Given the description of an element on the screen output the (x, y) to click on. 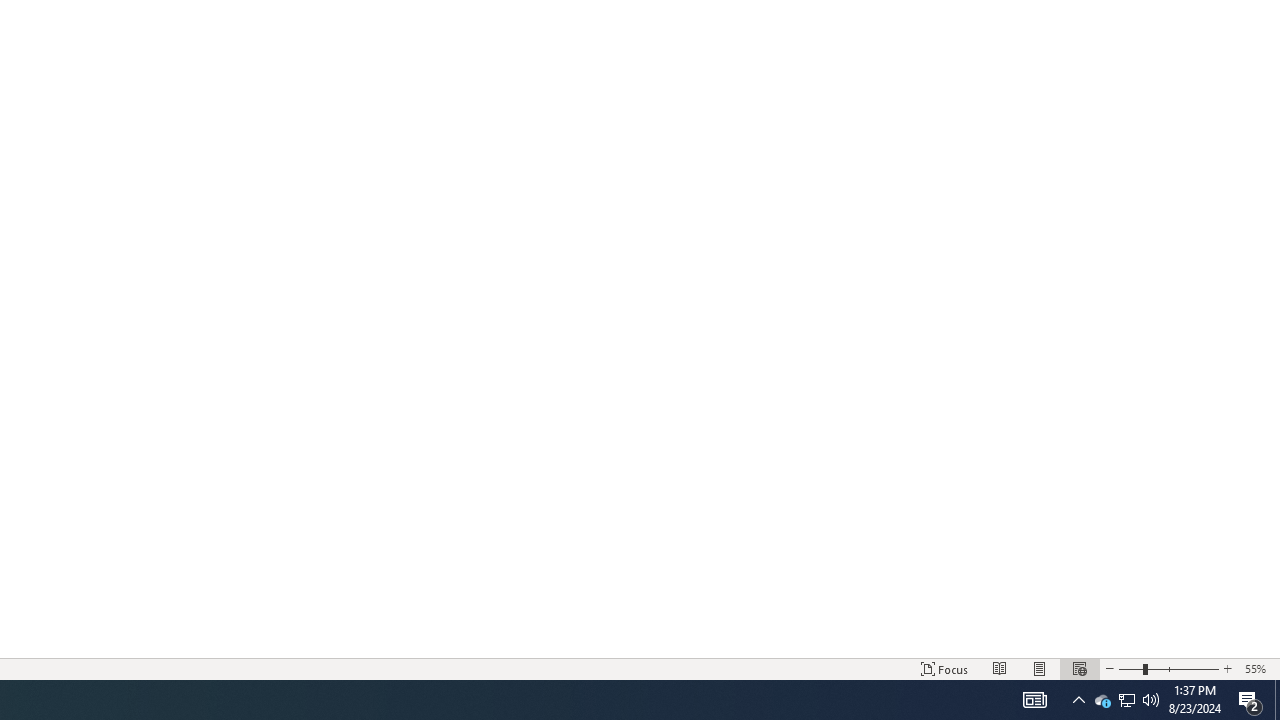
Read Mode (1000, 668)
Zoom In (1227, 668)
Zoom (1168, 668)
Print Layout (1039, 668)
Zoom 55% (1258, 668)
Zoom Out (1130, 668)
Focus  (944, 668)
Web Layout (1079, 668)
